Given the description of an element on the screen output the (x, y) to click on. 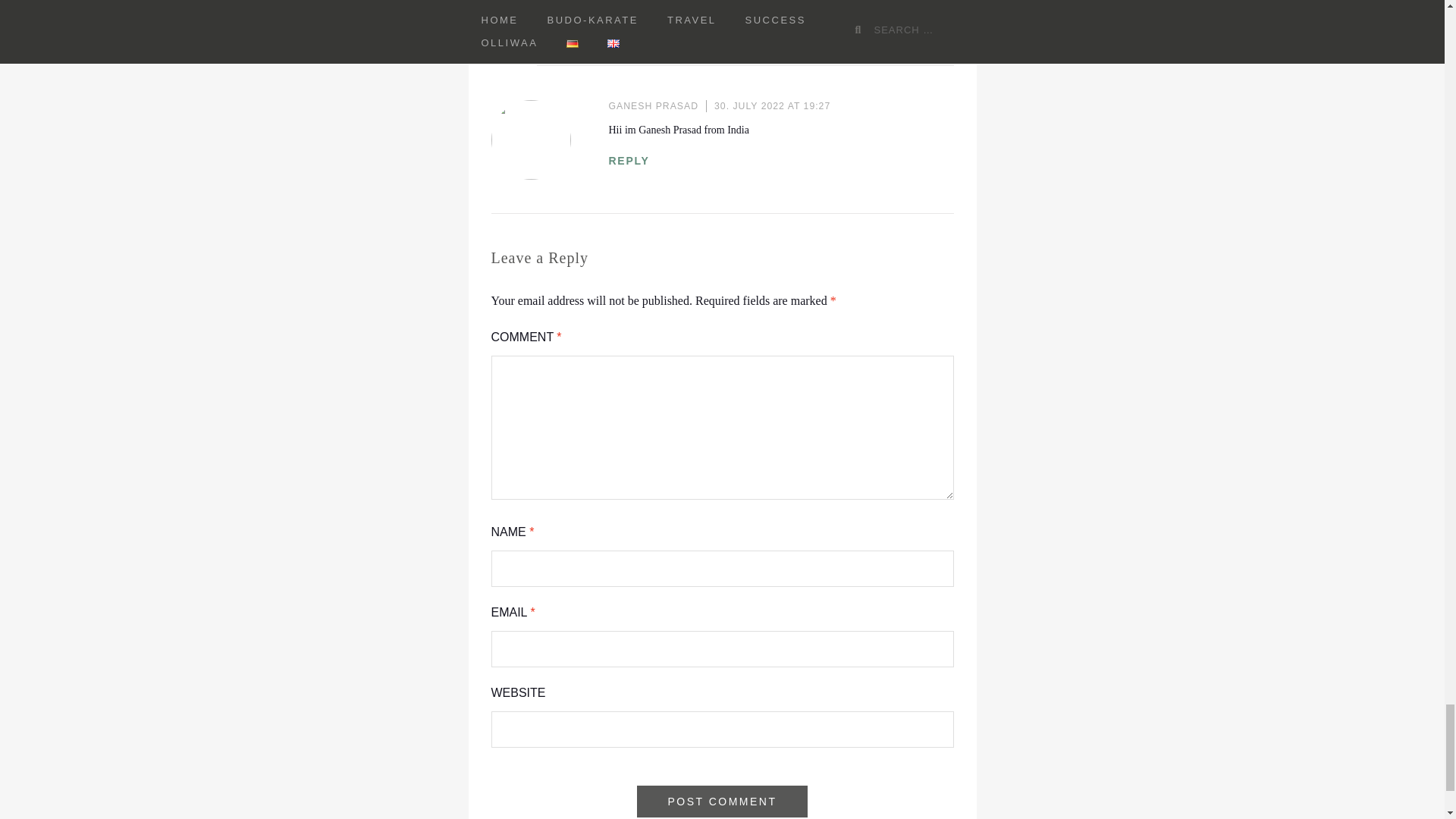
Post Comment (721, 801)
Post Comment (721, 801)
REPLY (673, 20)
GANESH PRASAD (653, 105)
REPLY (628, 160)
30. JULY 2022 AT 19:27 (771, 105)
